Given the description of an element on the screen output the (x, y) to click on. 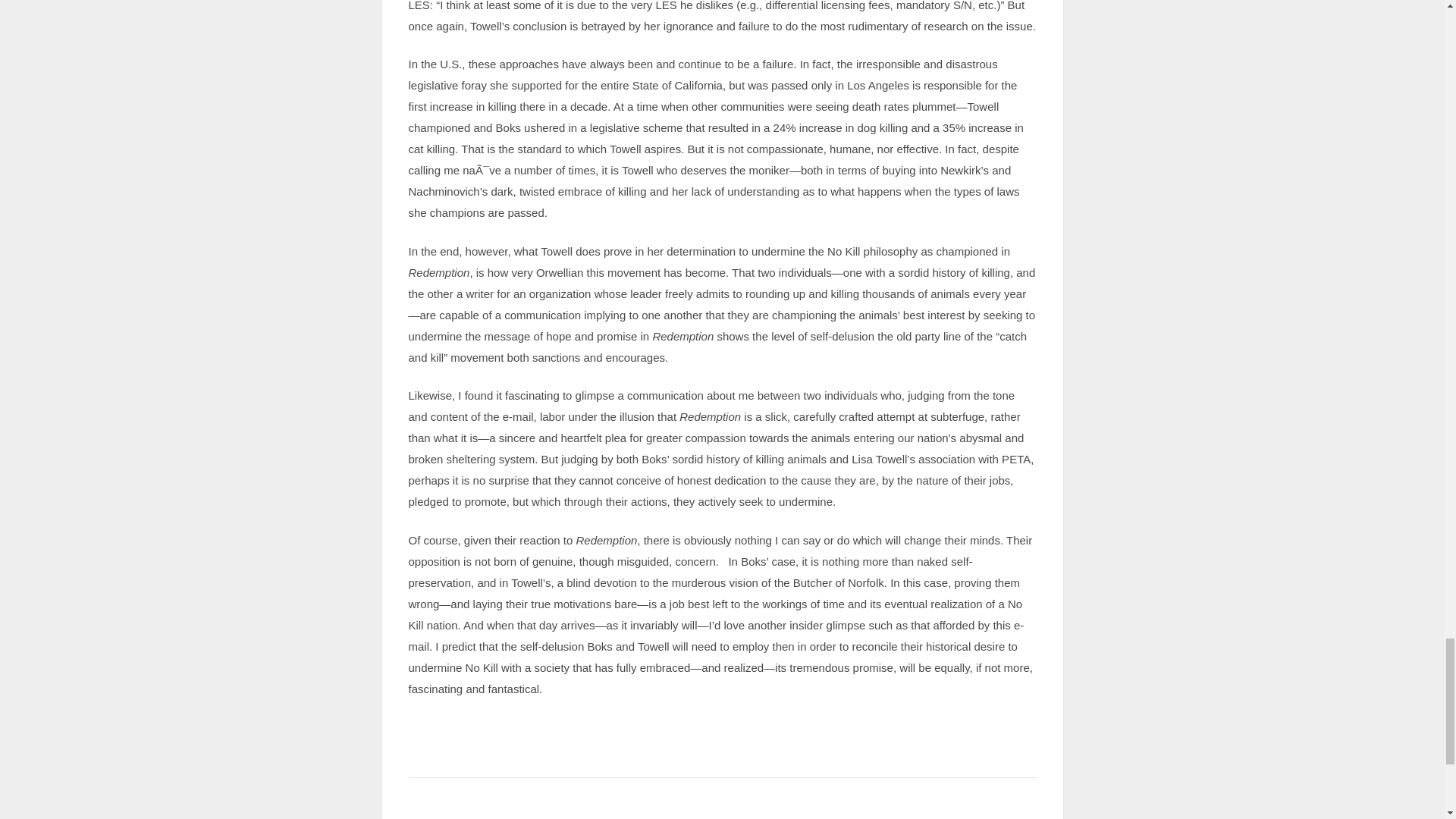
HOW CAN WE HELP? (938, 809)
